Given the description of an element on the screen output the (x, y) to click on. 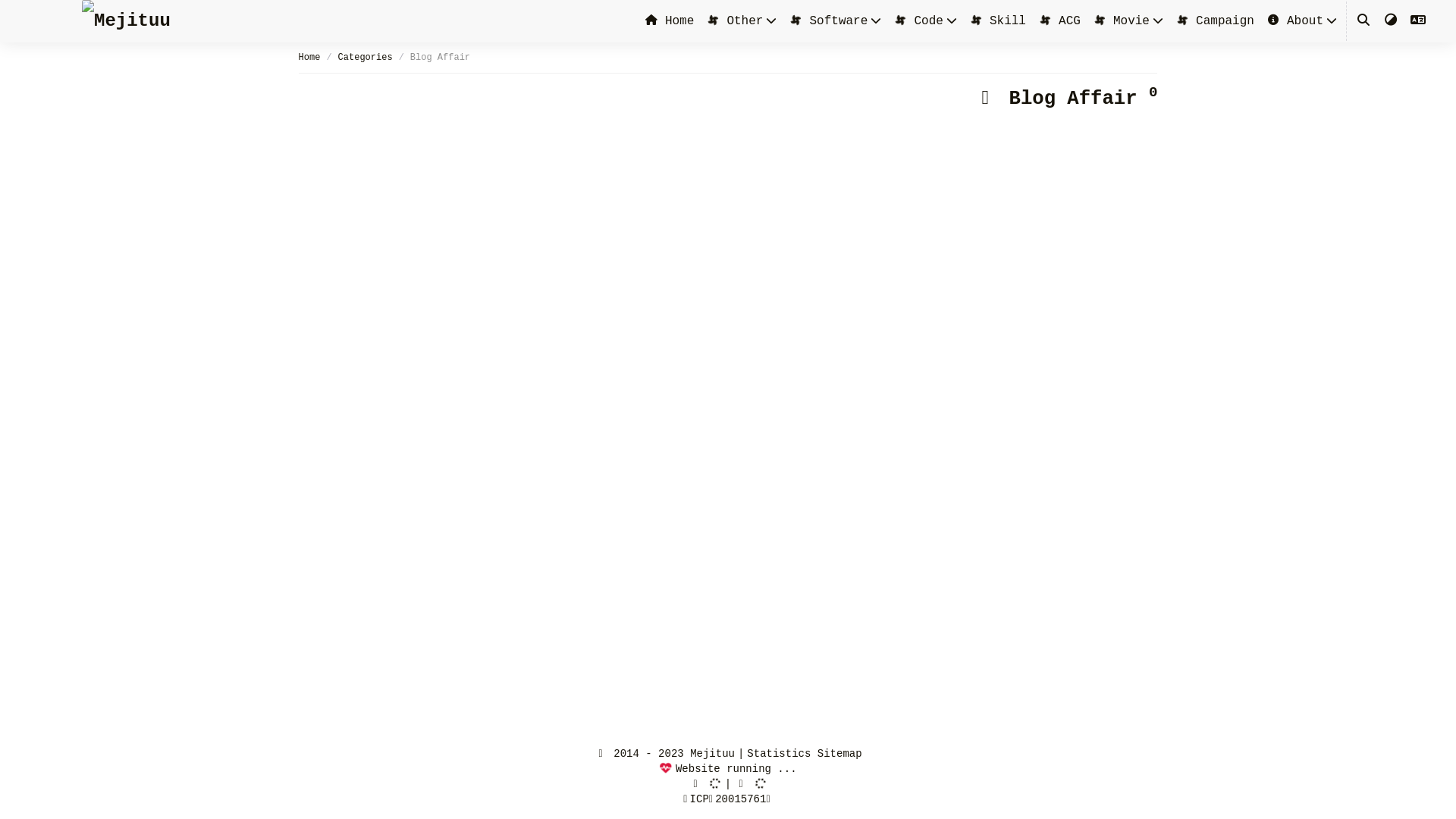
Skill Element type: text (997, 21)
Mejituu Element type: hover (125, 20)
Mejituu Element type: hover (125, 21)
Other Element type: text (734, 21)
Categories Element type: text (365, 57)
ACG Element type: text (1059, 21)
Total visitors Element type: hover (704, 784)
Total visits Element type: hover (744, 784)
Code Element type: text (918, 21)
Sitemap Element type: text (839, 753)
Mejituu Element type: text (712, 753)
Software Element type: text (827, 21)
Campaign Element type: text (1214, 21)
Home Element type: text (309, 57)
Search Element type: hover (1363, 21)
Statistics Element type: text (778, 753)
About Element type: text (1294, 21)
Select Language Element type: hover (1417, 21)
Home Element type: text (669, 21)
Switch Theme Element type: hover (1390, 21)
Movie Element type: text (1120, 21)
